Given the description of an element on the screen output the (x, y) to click on. 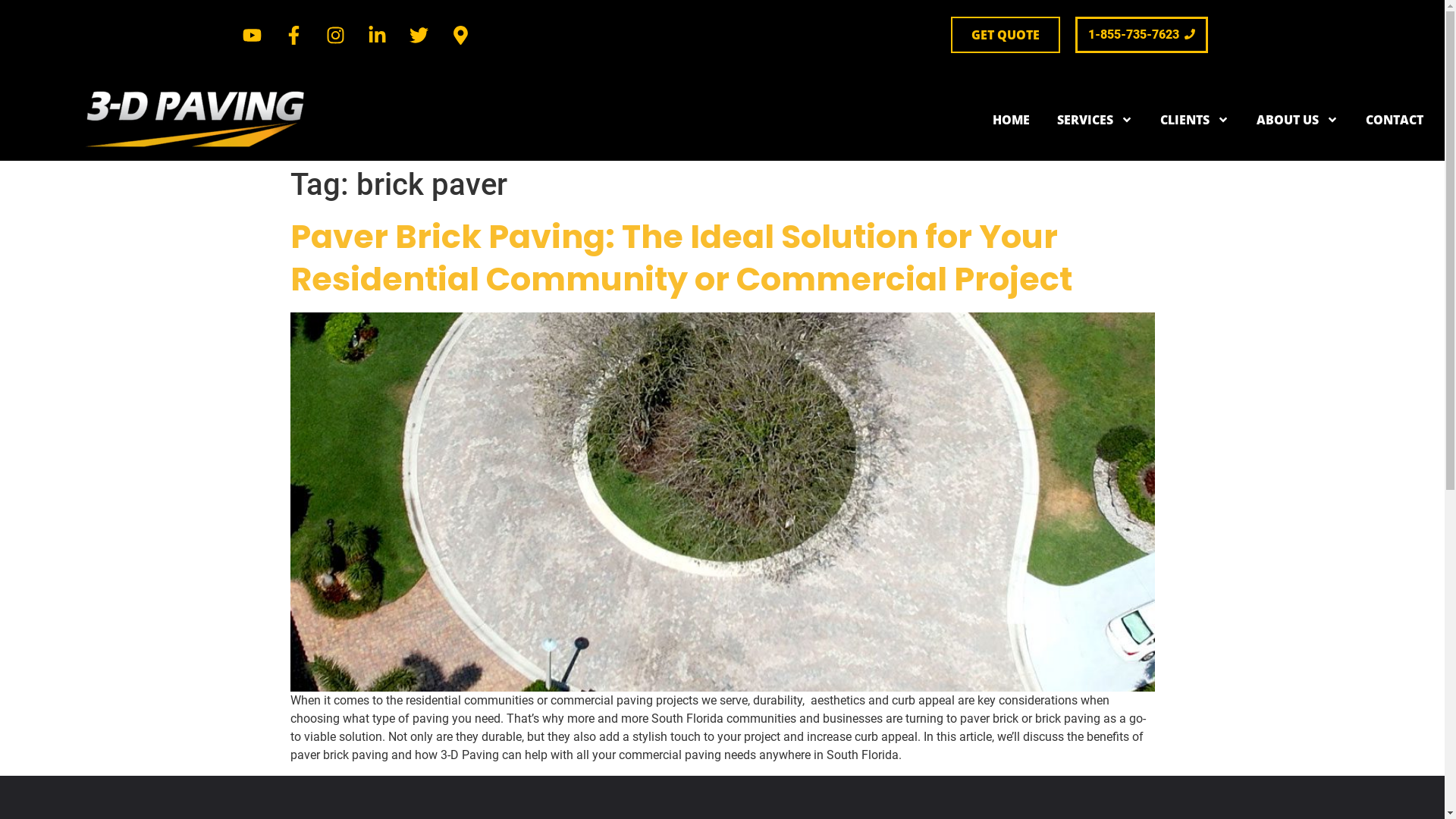
SERVICES Element type: text (1094, 119)
CONTACT Element type: text (1394, 119)
HOME Element type: text (1011, 119)
GET QUOTE Element type: text (1005, 34)
ABOUT US Element type: text (1297, 119)
CLIENTS Element type: text (1194, 119)
1-855-735-7623 Element type: text (1141, 34)
